Given the description of an element on the screen output the (x, y) to click on. 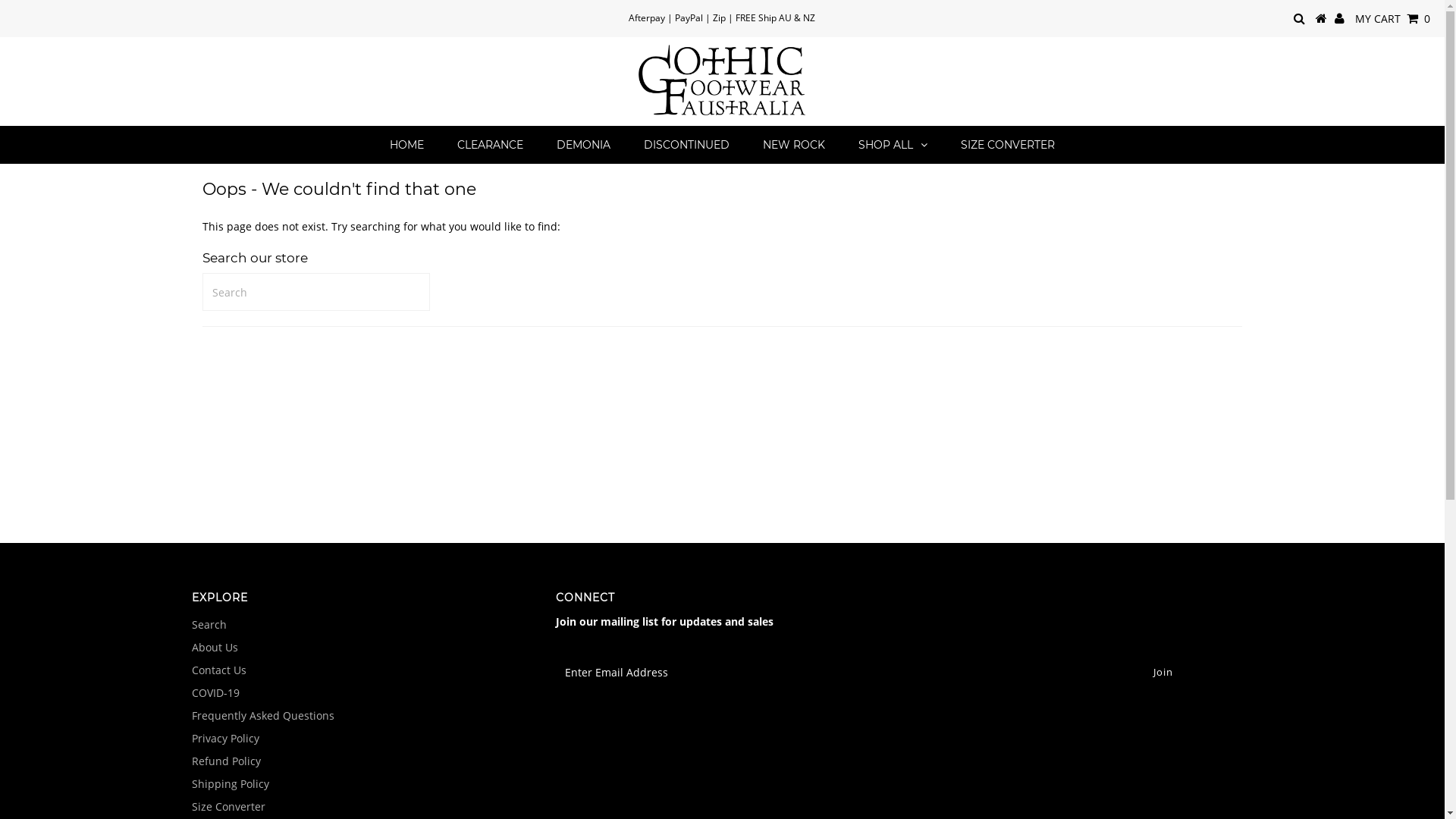
Shipping Policy Element type: text (229, 783)
HOME Element type: text (406, 144)
Contact Us Element type: text (218, 669)
MY CART    0 Element type: text (1392, 18)
Refund Policy Element type: text (225, 760)
NEW ROCK Element type: text (793, 144)
CLEARANCE Element type: text (490, 144)
Size Converter Element type: text (227, 806)
SHOP ALL Element type: text (892, 144)
SIZE CONVERTER Element type: text (1007, 144)
About Us Element type: text (214, 647)
Join Element type: text (1163, 671)
Privacy Policy Element type: text (224, 738)
Search Element type: text (208, 624)
DISCONTINUED Element type: text (686, 144)
Frequently Asked Questions Element type: text (262, 715)
COVID-19 Element type: text (214, 692)
DEMONIA Element type: text (583, 144)
